Given the description of an element on the screen output the (x, y) to click on. 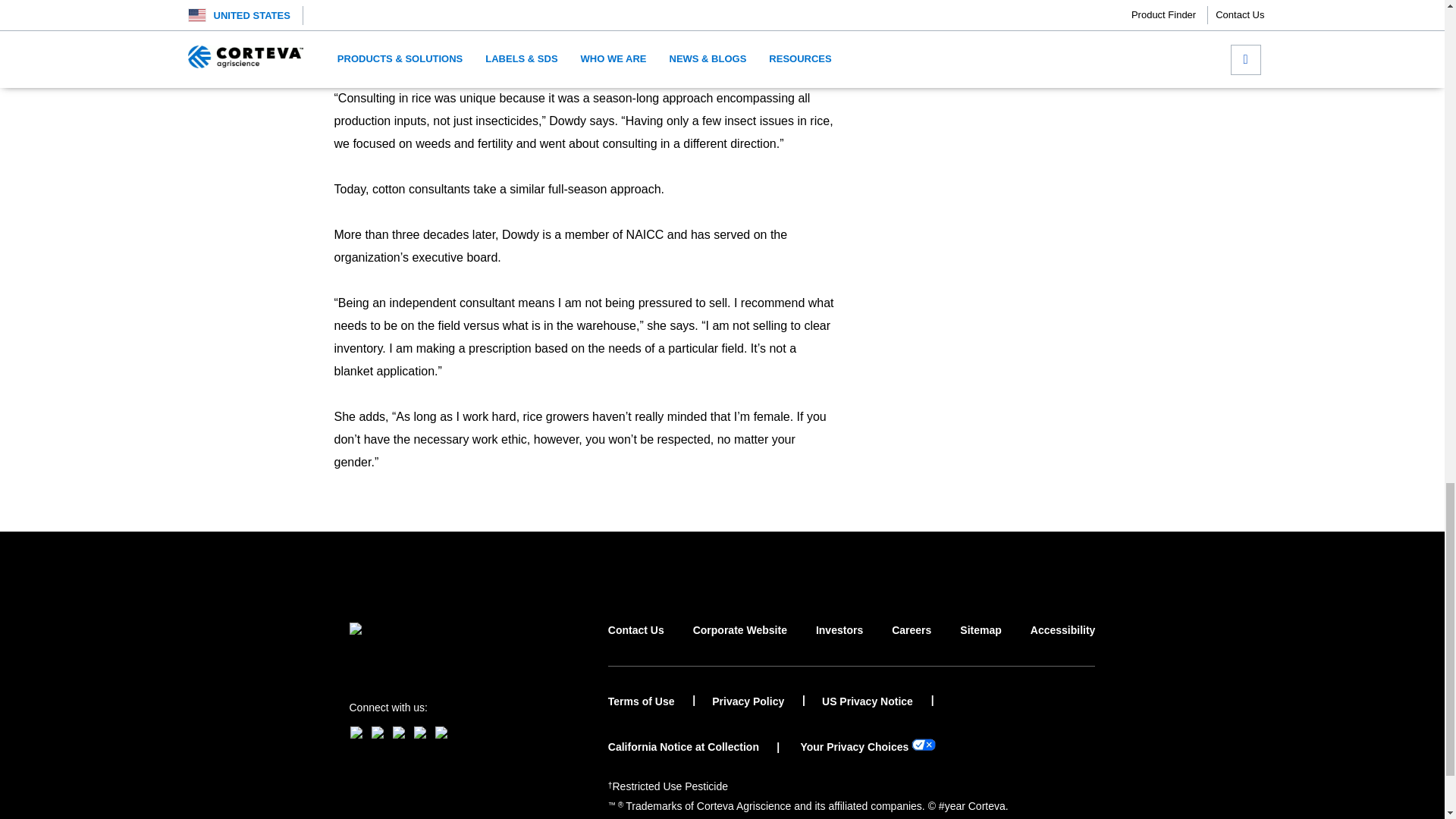
Contact Us (635, 643)
Sitemap (980, 643)
Privacy Policy (758, 701)
US Privacy Notice (878, 701)
Legals (669, 786)
Careers (911, 643)
Terms of Use (651, 701)
Accessibility (1063, 643)
Corporate Website (740, 643)
Investors (839, 643)
